Given the description of an element on the screen output the (x, y) to click on. 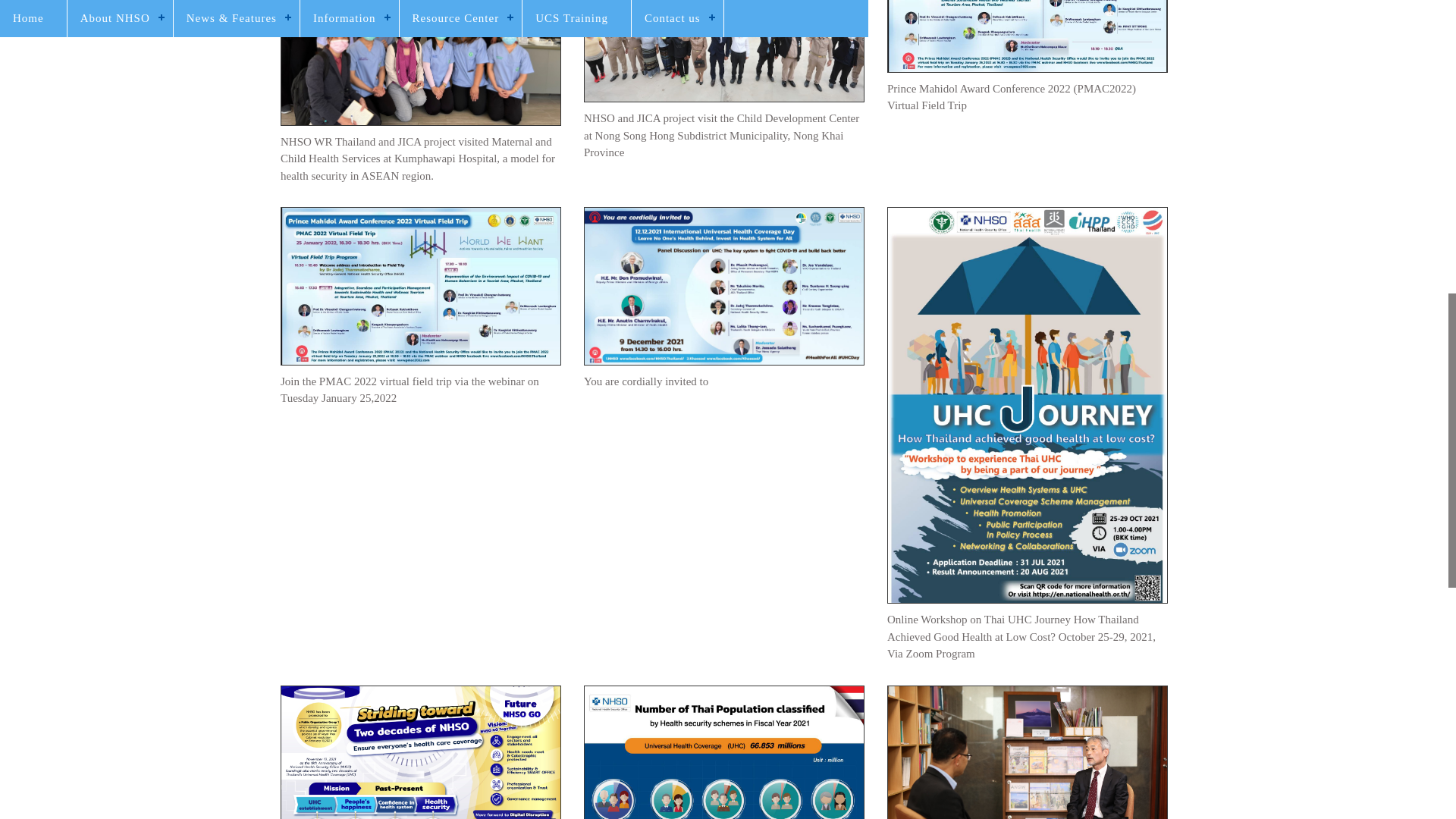
You are cordially invited to  (723, 286)
